Given the description of an element on the screen output the (x, y) to click on. 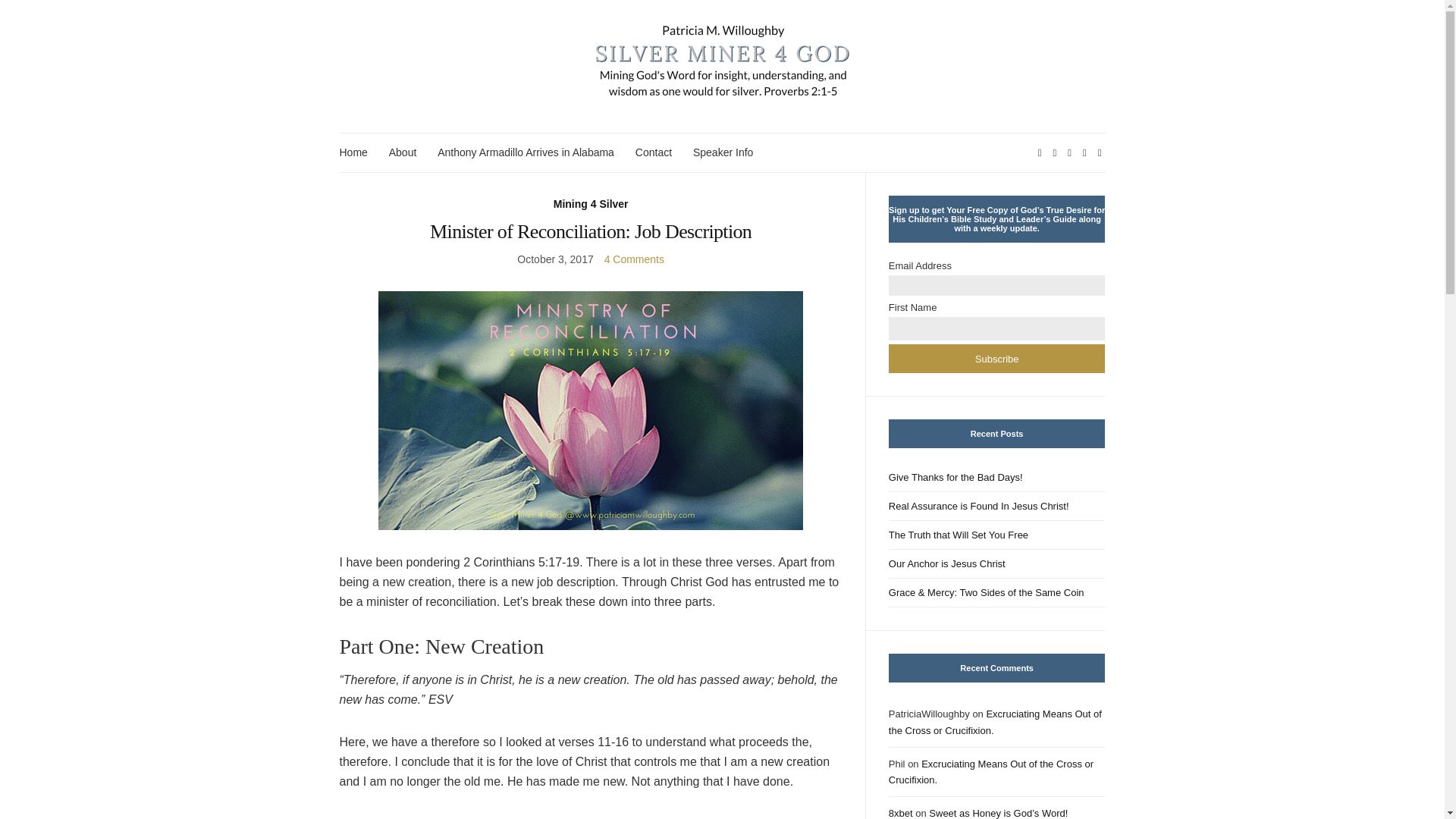
Mining 4 Silver (590, 203)
About (402, 152)
Home (353, 152)
Excruciating Means Out of the Cross or Crucifixion. (990, 771)
Give Thanks for the Bad Days! (996, 477)
4 Comments (633, 259)
Anthony Armadillo Arrives in Alabama (526, 152)
Subscribe (996, 358)
Minister of Reconciliation: Job Description (590, 231)
Our Anchor is Jesus Christ (996, 563)
The Truth that Will Set You Free (996, 534)
Speaker Info (722, 152)
Excruciating Means Out of the Cross or Crucifixion. (995, 721)
8xbet (900, 813)
Contact (652, 152)
